Given the description of an element on the screen output the (x, y) to click on. 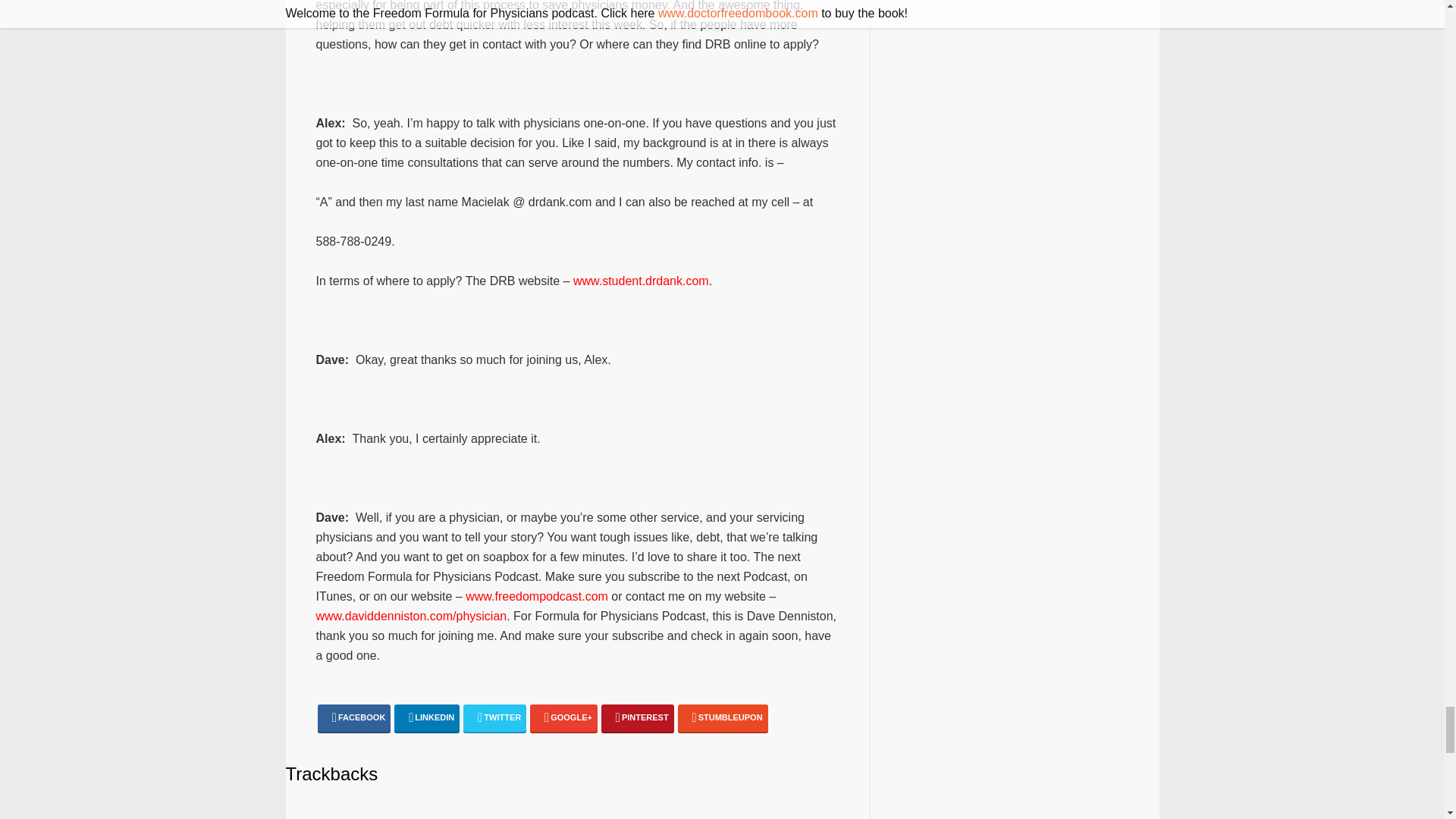
www.student.drdank.com (641, 280)
TWITTER (494, 718)
LINKEDIN (427, 718)
PINTEREST (637, 718)
FACEBOOK (353, 718)
www.freedompodcast.com (536, 595)
STUMBLEUPON (723, 718)
